Given the description of an element on the screen output the (x, y) to click on. 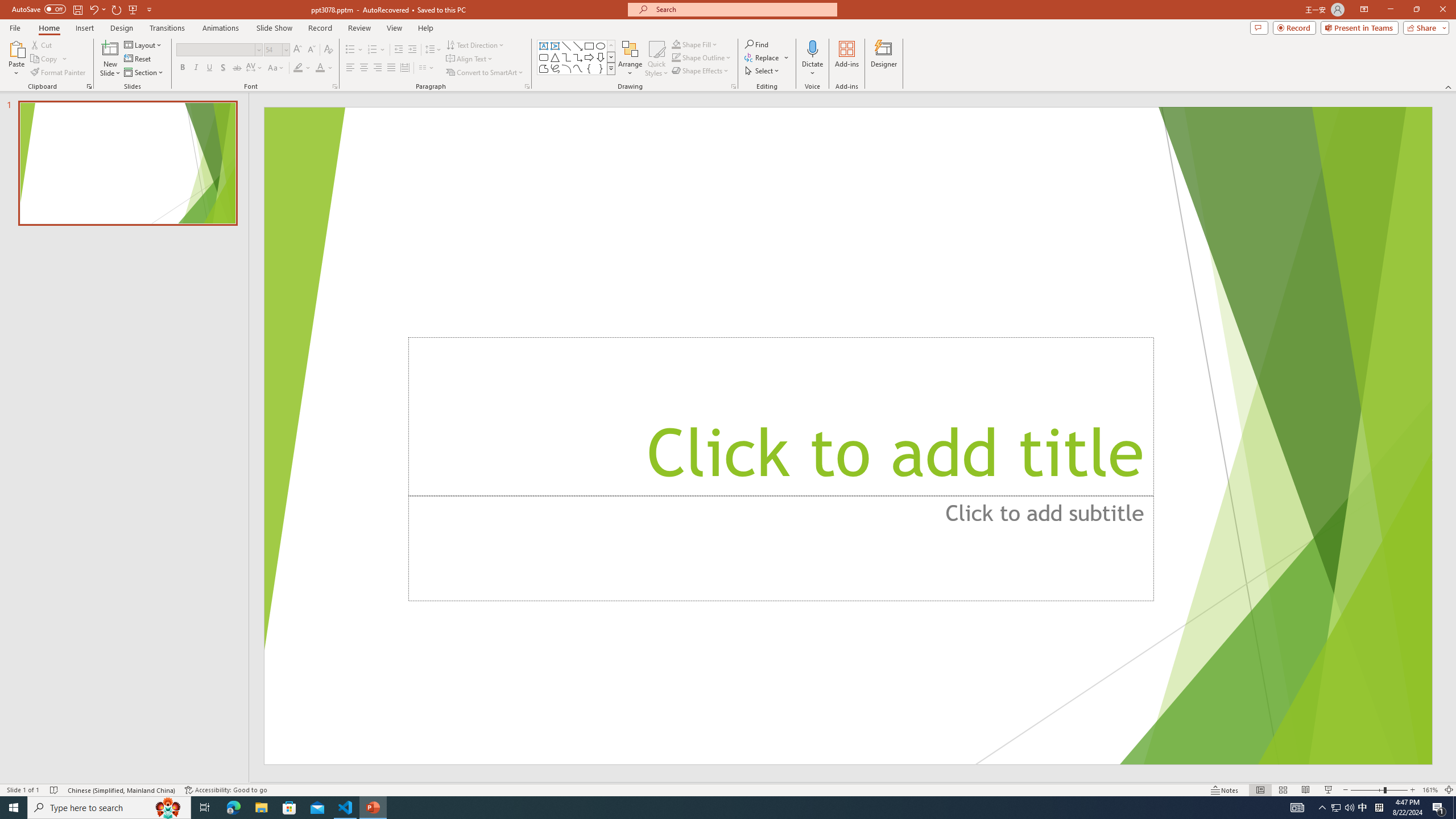
Numbering (372, 49)
Font (215, 49)
Record (1294, 27)
Paragraph... (526, 85)
Row Down (611, 56)
Normal (1260, 790)
Arrange (630, 58)
Align Text (470, 58)
Font... (334, 85)
Align Left (349, 67)
Columns (426, 67)
Collapse the Ribbon (1448, 86)
Arrow: Down (600, 57)
Decrease Font Size (310, 49)
Text Highlight Color Yellow (297, 67)
